Given the description of an element on the screen output the (x, y) to click on. 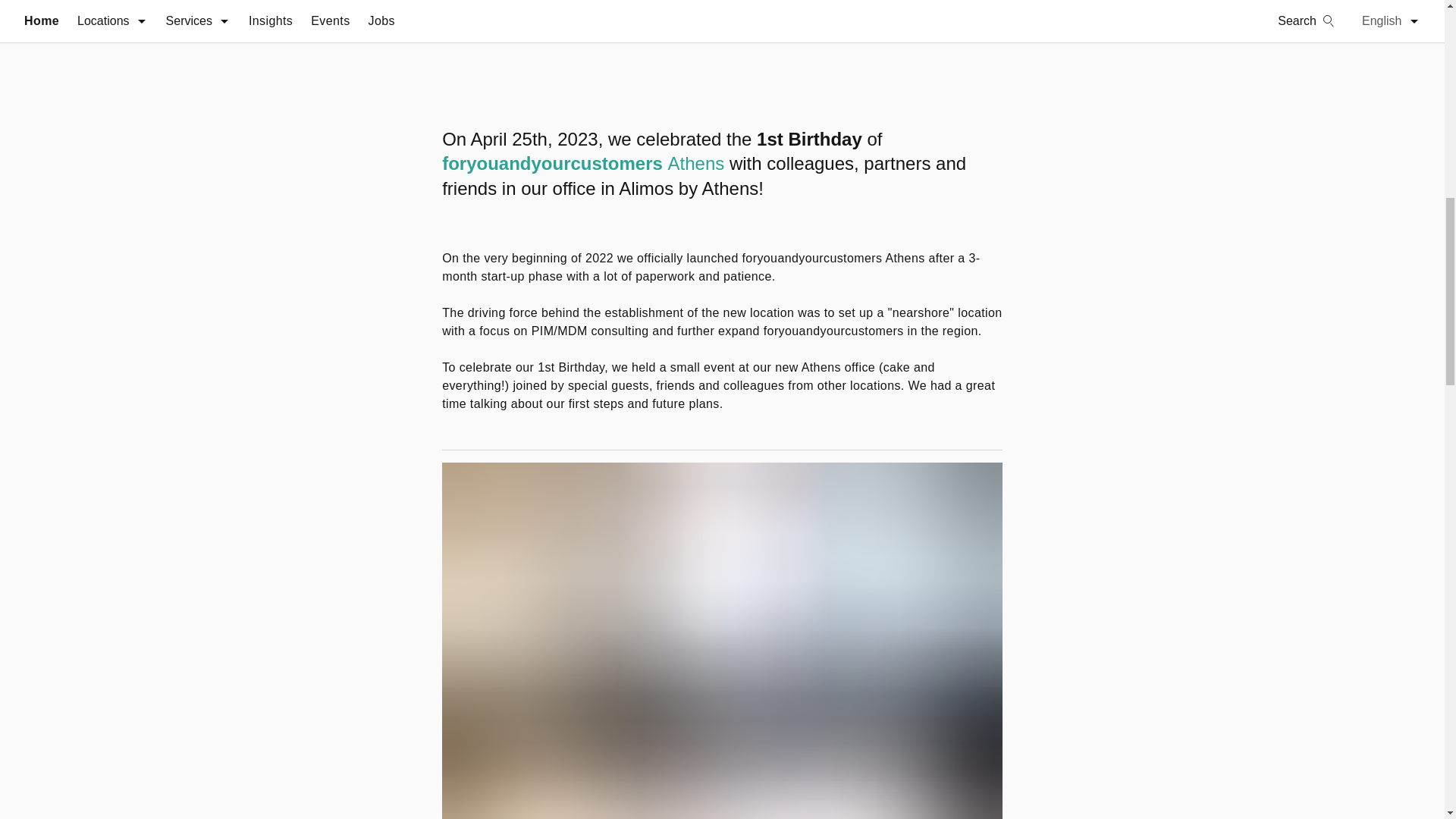
Athens (696, 163)
